Given the description of an element on the screen output the (x, y) to click on. 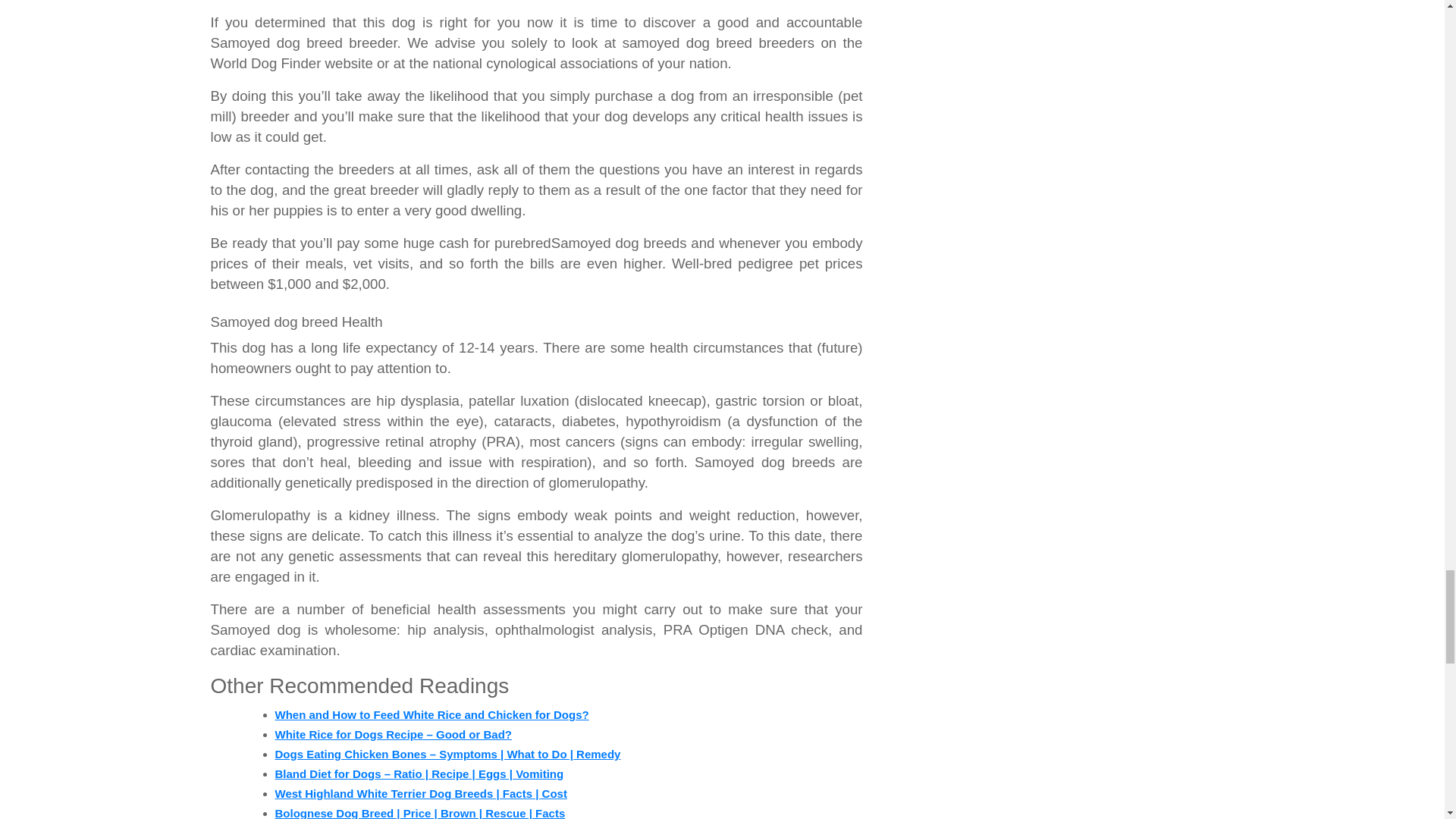
When and How to Feed White Rice and Chicken for Dogs? (431, 714)
